Given the description of an element on the screen output the (x, y) to click on. 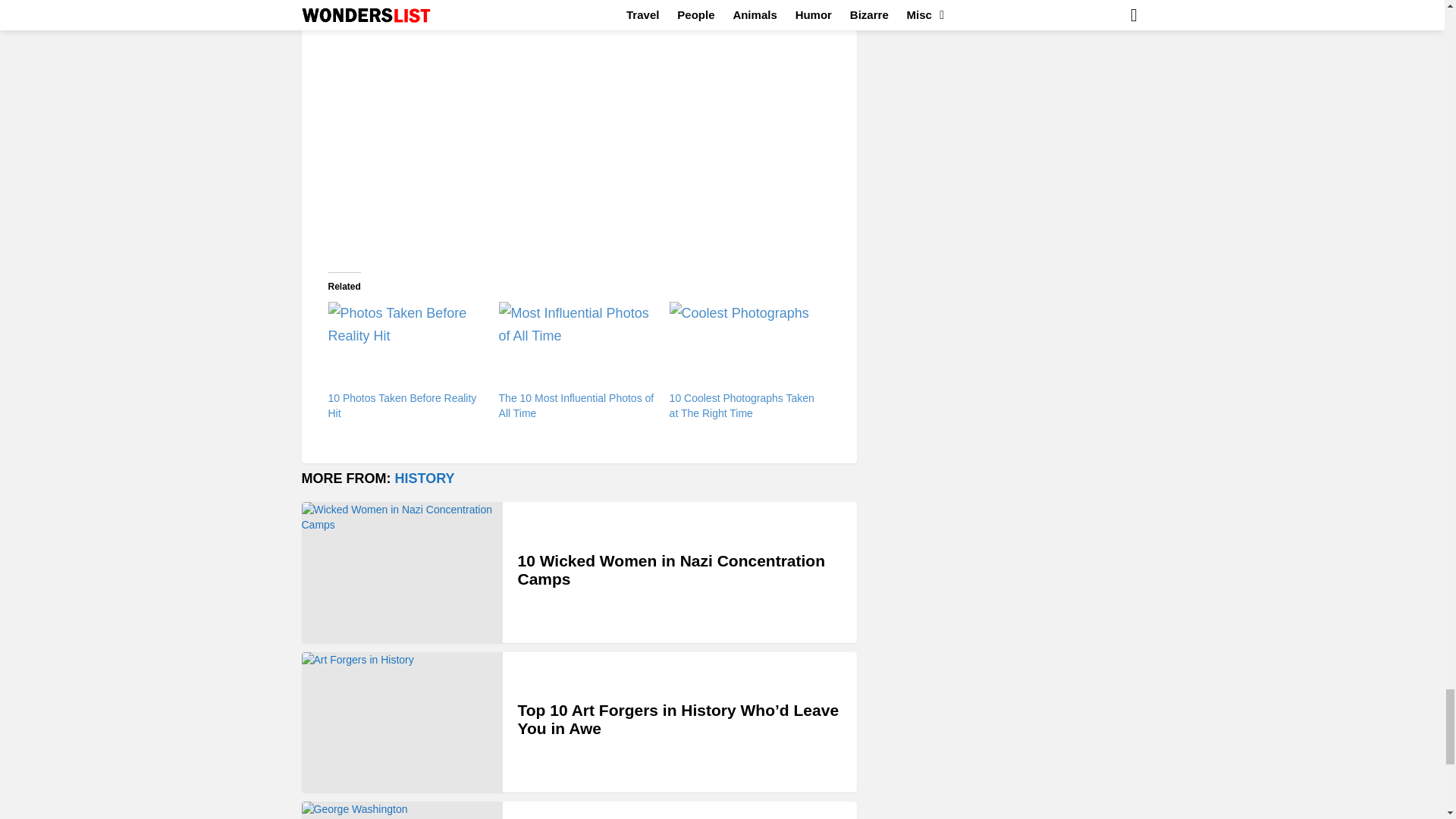
10 Coolest Photographs Taken at The Right Time (741, 405)
10 Coolest Photographs Taken at The Right Time (741, 405)
10 Photos Taken Before Reality Hit (401, 405)
The 10 Most Influential Photos of All Time (576, 405)
10 Coolest Photographs Taken at The Right Time (747, 346)
10 Photos Taken Before Reality Hit (401, 405)
10 Photos Taken Before Reality Hit (405, 346)
The 10 Most Influential Photos of All Time (576, 346)
Fantastic Nature Photographs (542, 6)
The 10 Most Influential Photos of All Time (576, 405)
